Given the description of an element on the screen output the (x, y) to click on. 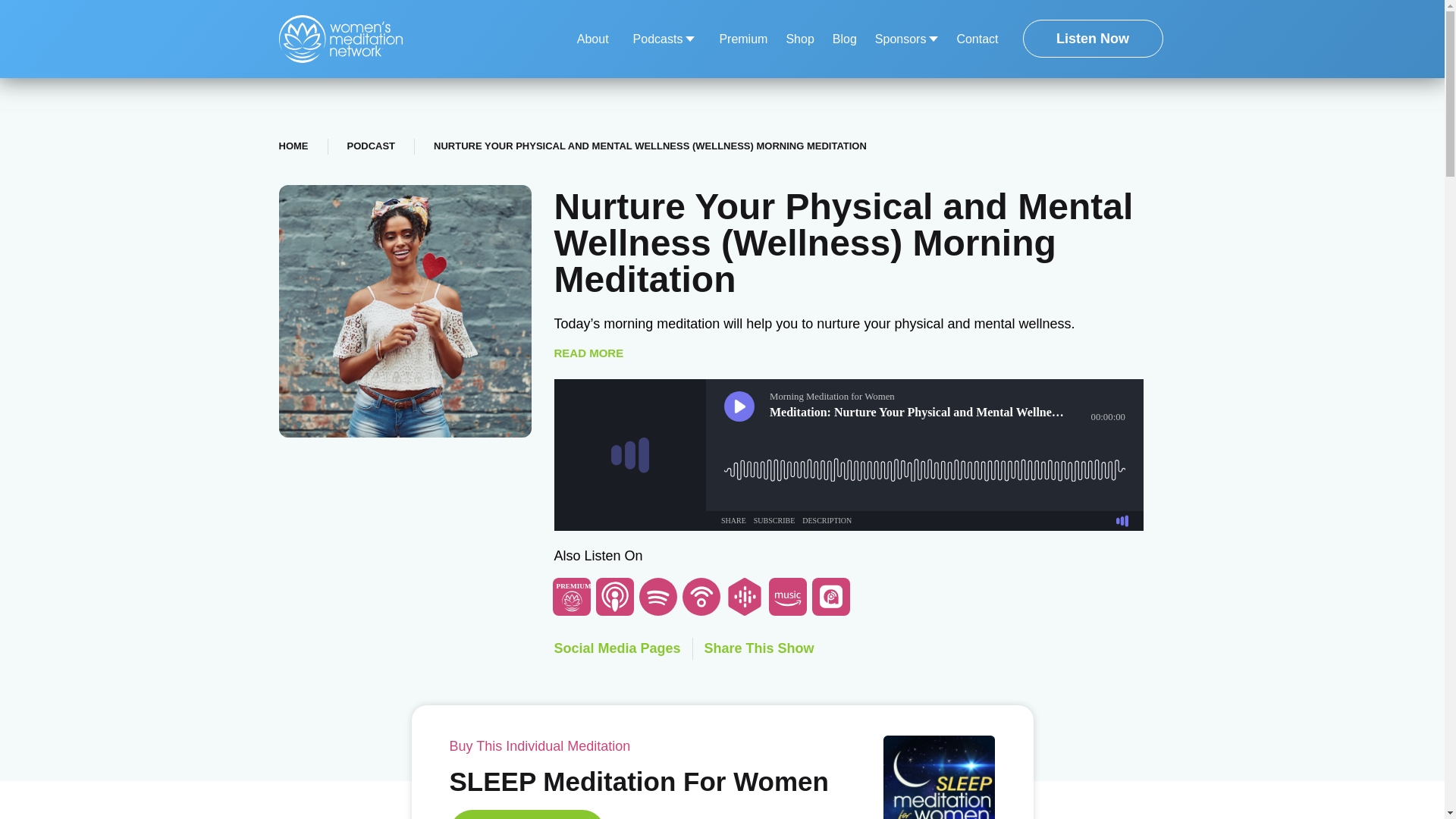
PREMIUM (572, 596)
Podcasts (663, 39)
About (592, 39)
